Given the description of an element on the screen output the (x, y) to click on. 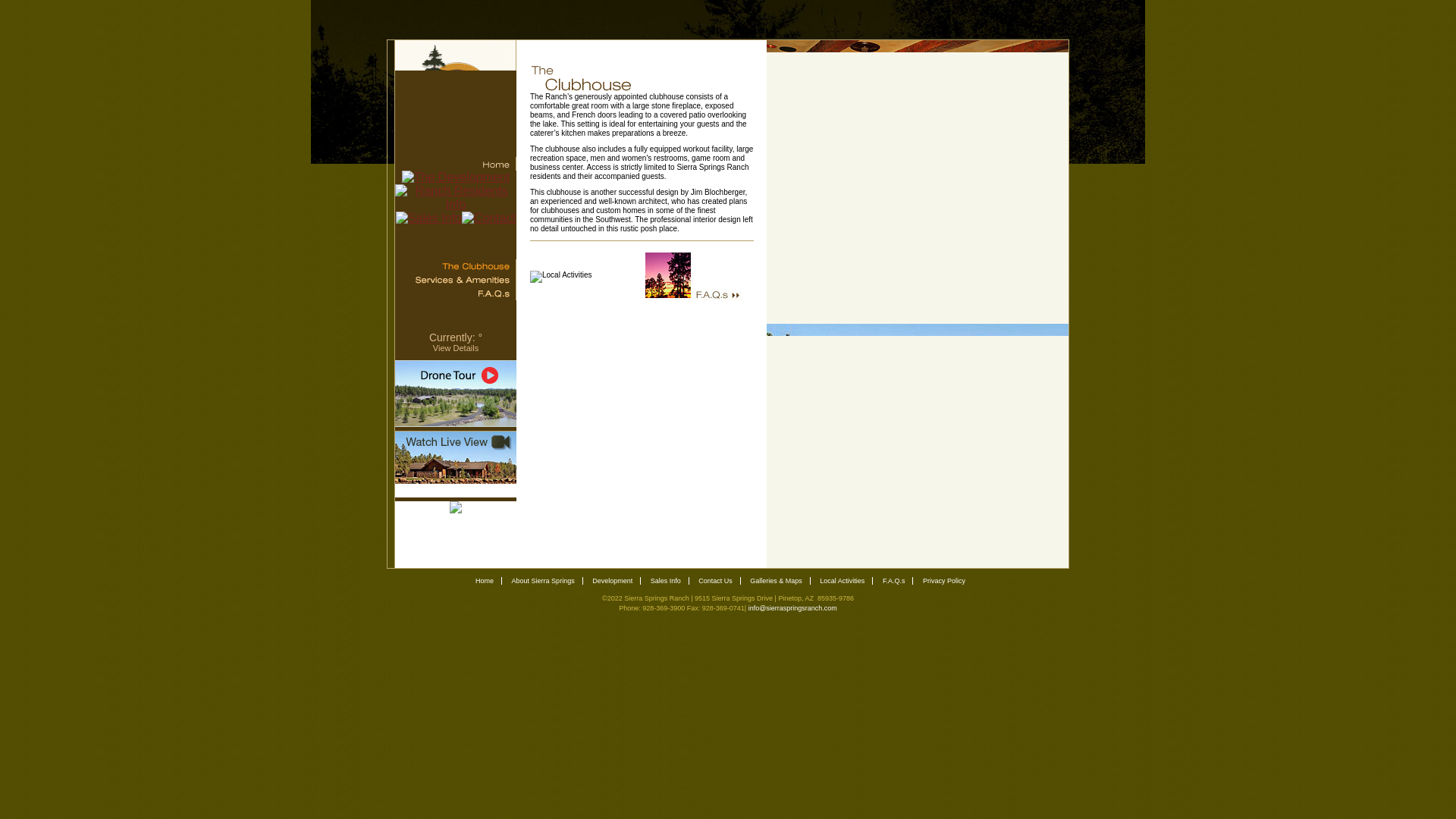
Development (611, 580)
Home (484, 580)
Sales Info (665, 580)
About Sierra Springs (543, 580)
Local Activities (841, 580)
Privacy Policy (944, 580)
F.A.Q.s (893, 580)
Contact Us (715, 580)
